Given the description of an element on the screen output the (x, y) to click on. 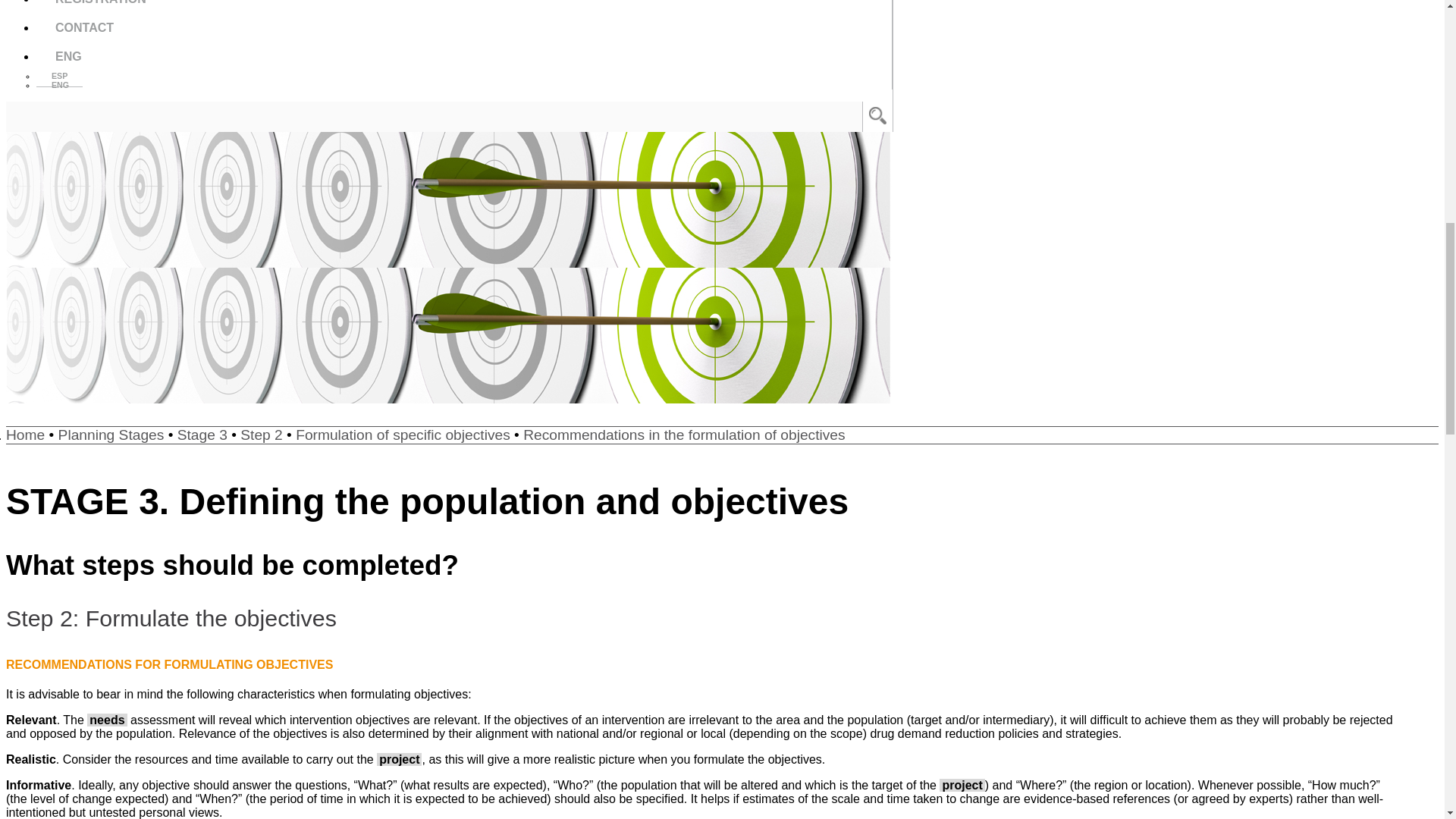
project (399, 758)
Formulation of specific objectives (403, 434)
Home (25, 434)
Planning Stages (111, 434)
REGISTRATION (463, 6)
needs (106, 719)
Recommendations in the formulation of objectives (683, 434)
CONTACT (463, 27)
ENG (60, 84)
Stage 3 (202, 434)
Step 2 (261, 434)
project (961, 784)
ESP (59, 75)
ENG (463, 56)
